Given the description of an element on the screen output the (x, y) to click on. 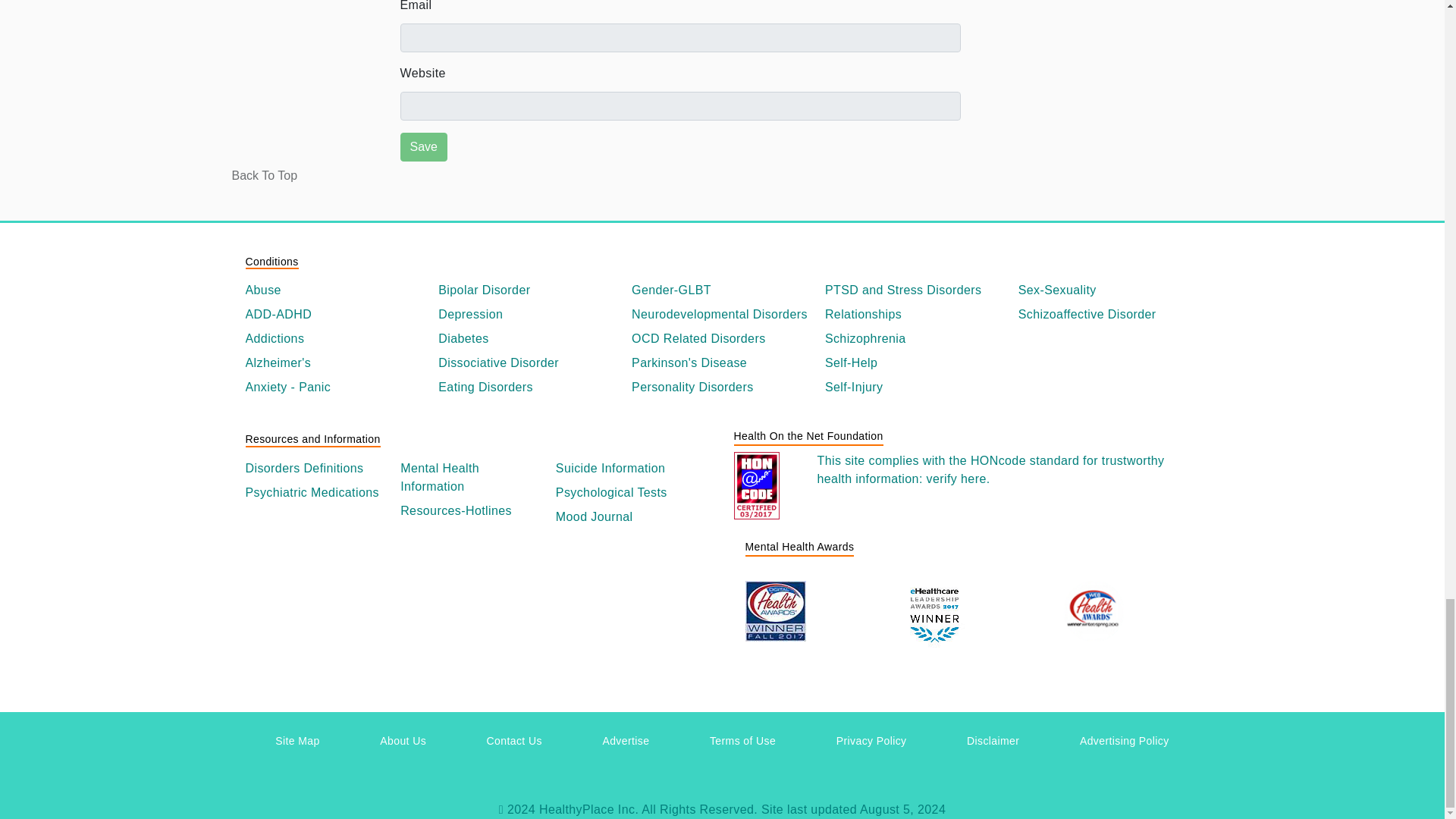
Parkinson's Disease Information Articles (721, 362)
